Given the description of an element on the screen output the (x, y) to click on. 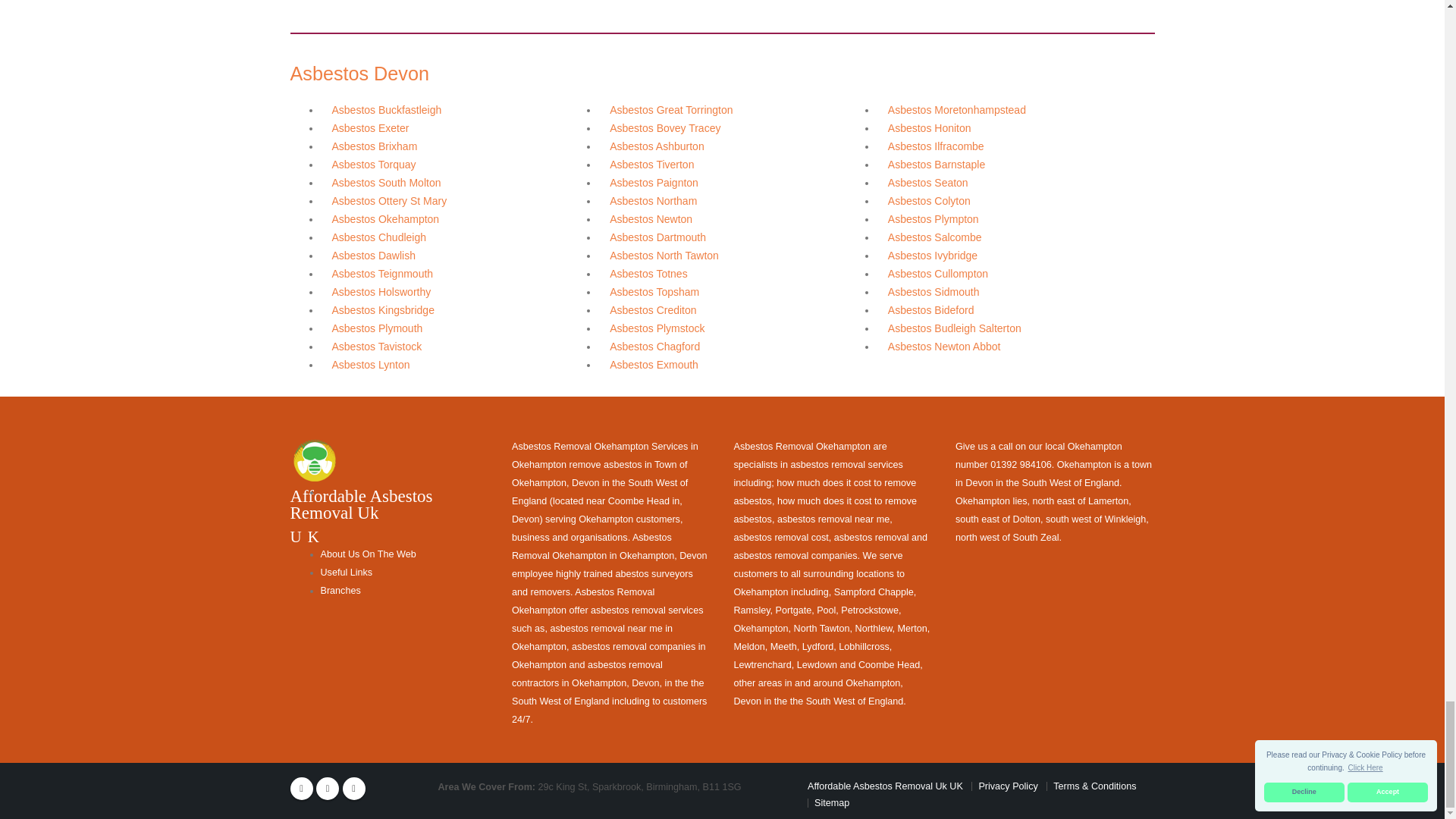
Facebook (301, 788)
Linkedin (353, 788)
Twitter (327, 788)
